Given the description of an element on the screen output the (x, y) to click on. 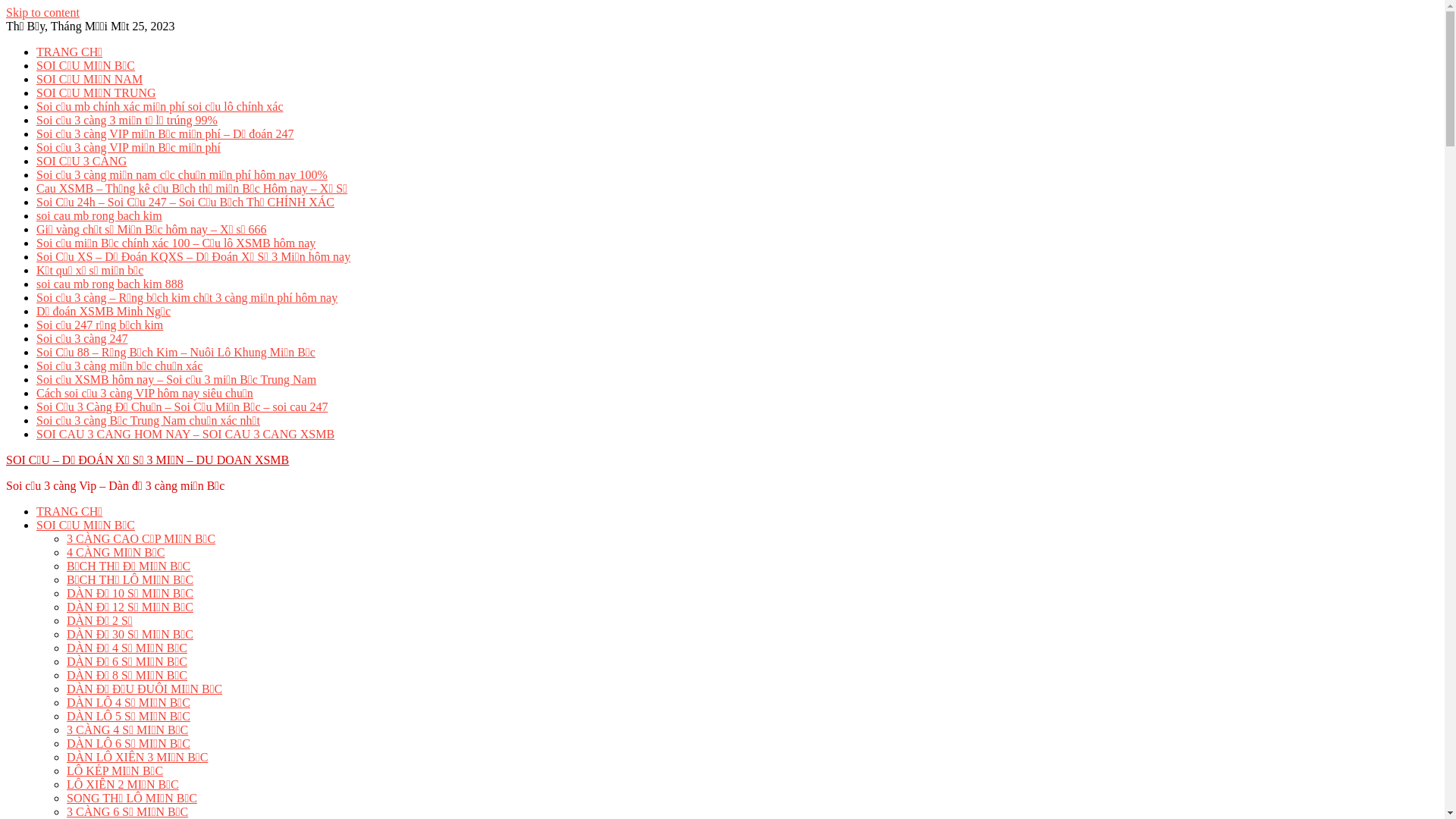
soi cau mb rong bach kim 888 Element type: text (109, 283)
soi cau mb rong bach kim Element type: text (99, 215)
Skip to content Element type: text (42, 12)
